Given the description of an element on the screen output the (x, y) to click on. 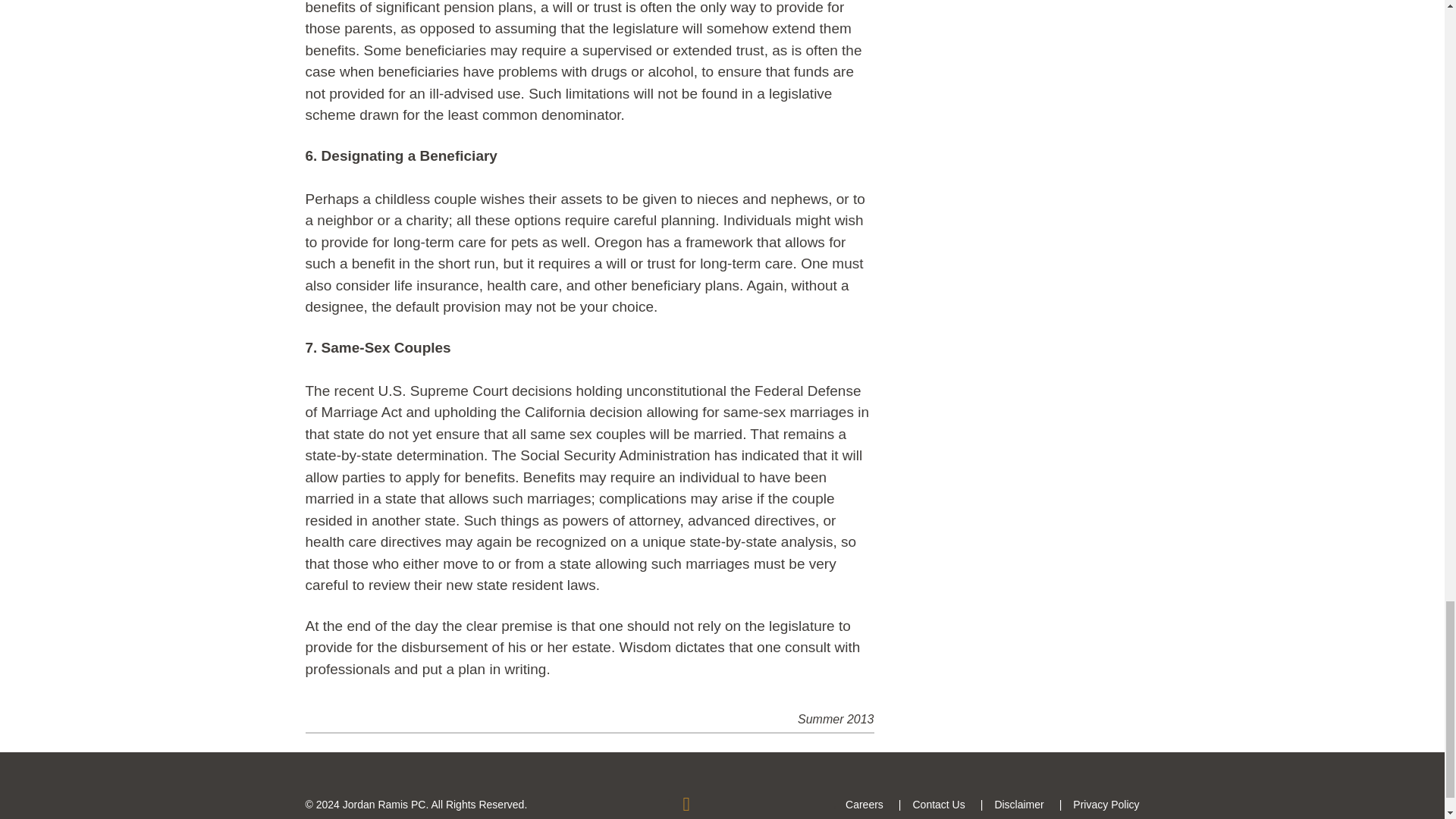
Careers (864, 804)
Privacy Policy (1105, 804)
Contact Us (937, 804)
Disclaimer (1018, 804)
